Given the description of an element on the screen output the (x, y) to click on. 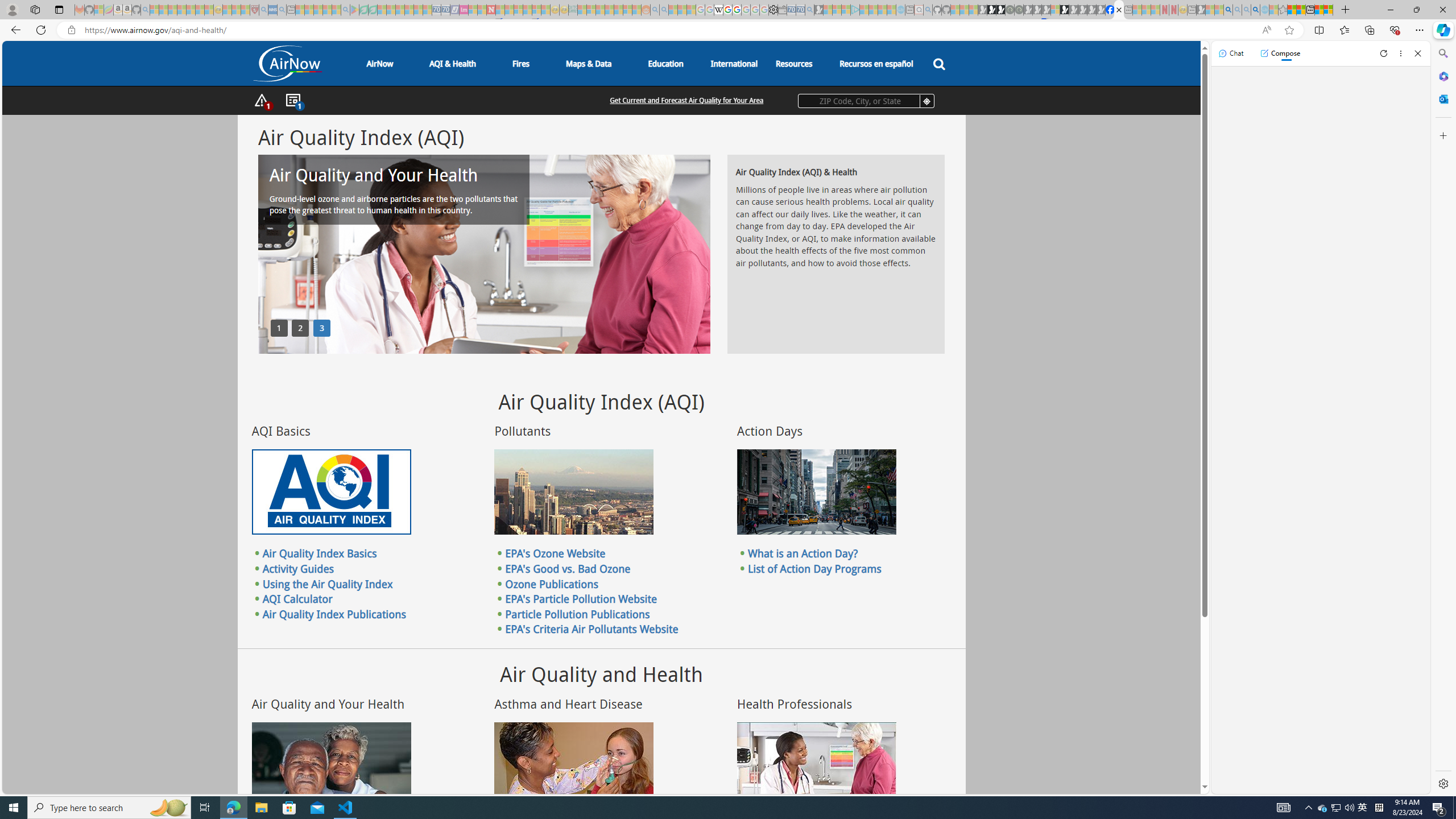
Google Chrome Internet Browser Download - Search Images (1255, 9)
Target page - Wikipedia (718, 9)
Air Quality Index Publications (334, 613)
Air Now Logo (286, 62)
